Given the description of an element on the screen output the (x, y) to click on. 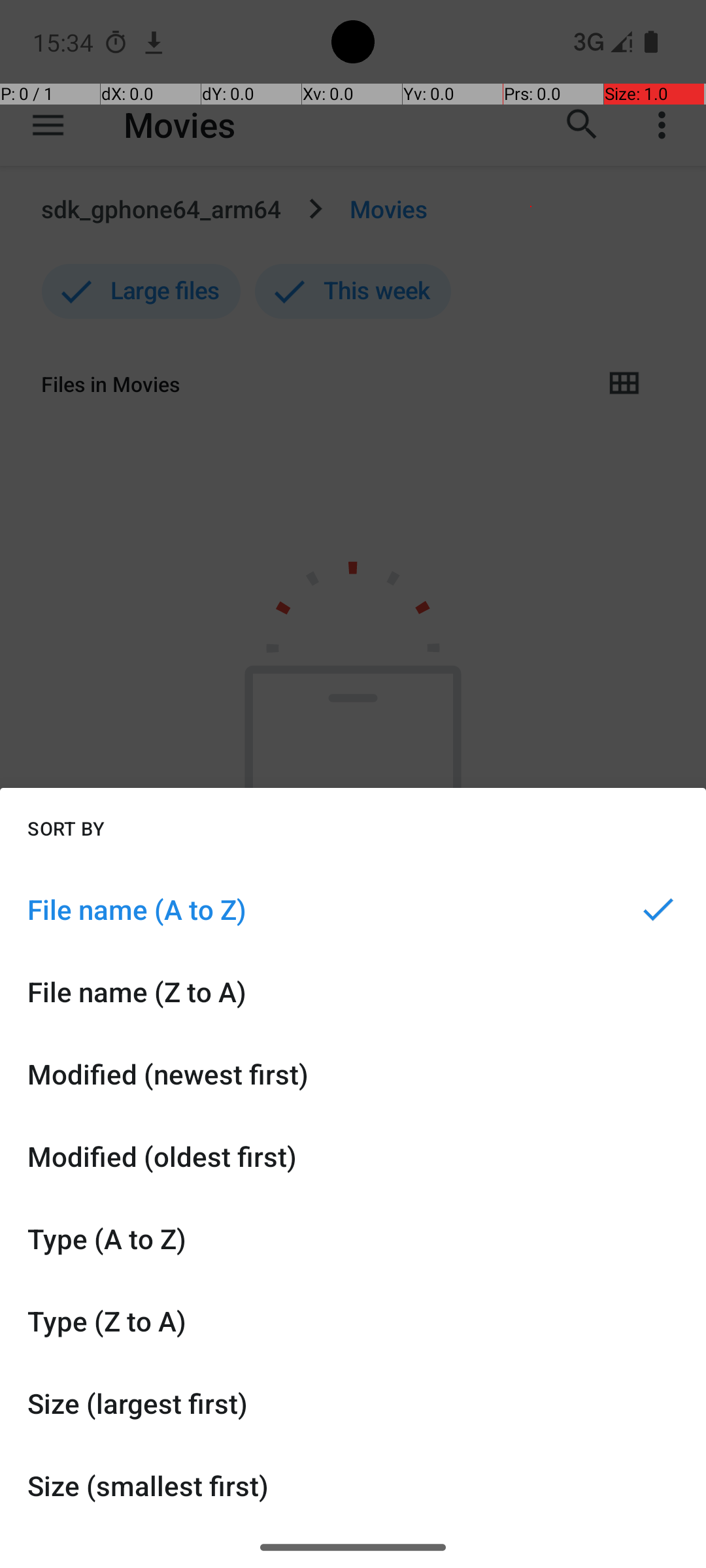
SORT BY Element type: android.widget.TextView (66, 827)
File name (A to Z) Element type: android.widget.CheckedTextView (353, 909)
File name (Z to A) Element type: android.widget.CheckedTextView (353, 991)
Modified (newest first) Element type: android.widget.CheckedTextView (353, 1073)
Modified (oldest first) Element type: android.widget.CheckedTextView (353, 1156)
Type (A to Z) Element type: android.widget.CheckedTextView (353, 1238)
Type (Z to A) Element type: android.widget.CheckedTextView (353, 1320)
Size (largest first) Element type: android.widget.CheckedTextView (353, 1403)
Size (smallest first) Element type: android.widget.CheckedTextView (353, 1485)
